Given the description of an element on the screen output the (x, y) to click on. 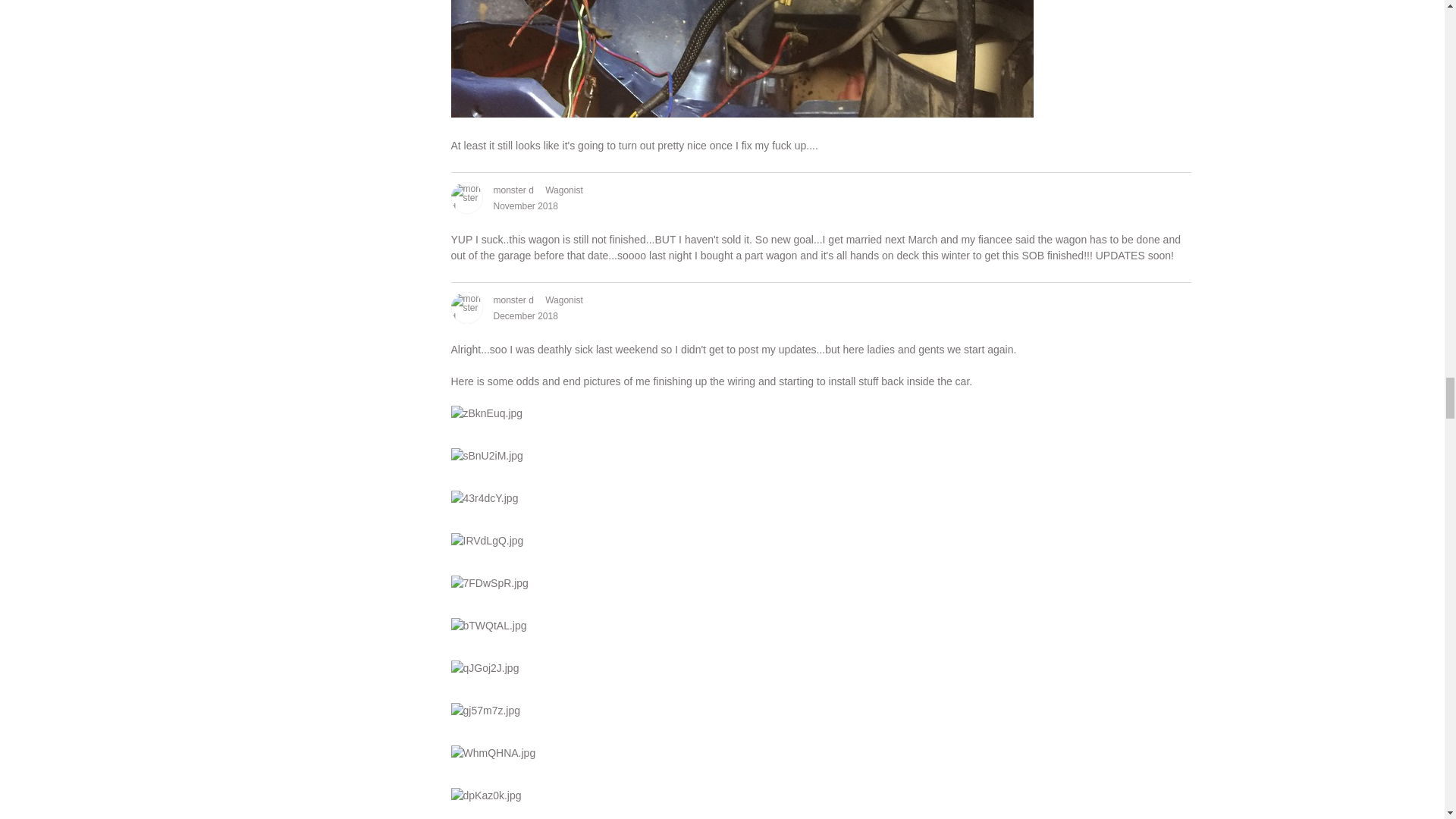
November 19, 2018 11:02AM (525, 205)
monster d (465, 197)
December 3, 2018 9:30AM (525, 316)
monster d (465, 307)
